Given the description of an element on the screen output the (x, y) to click on. 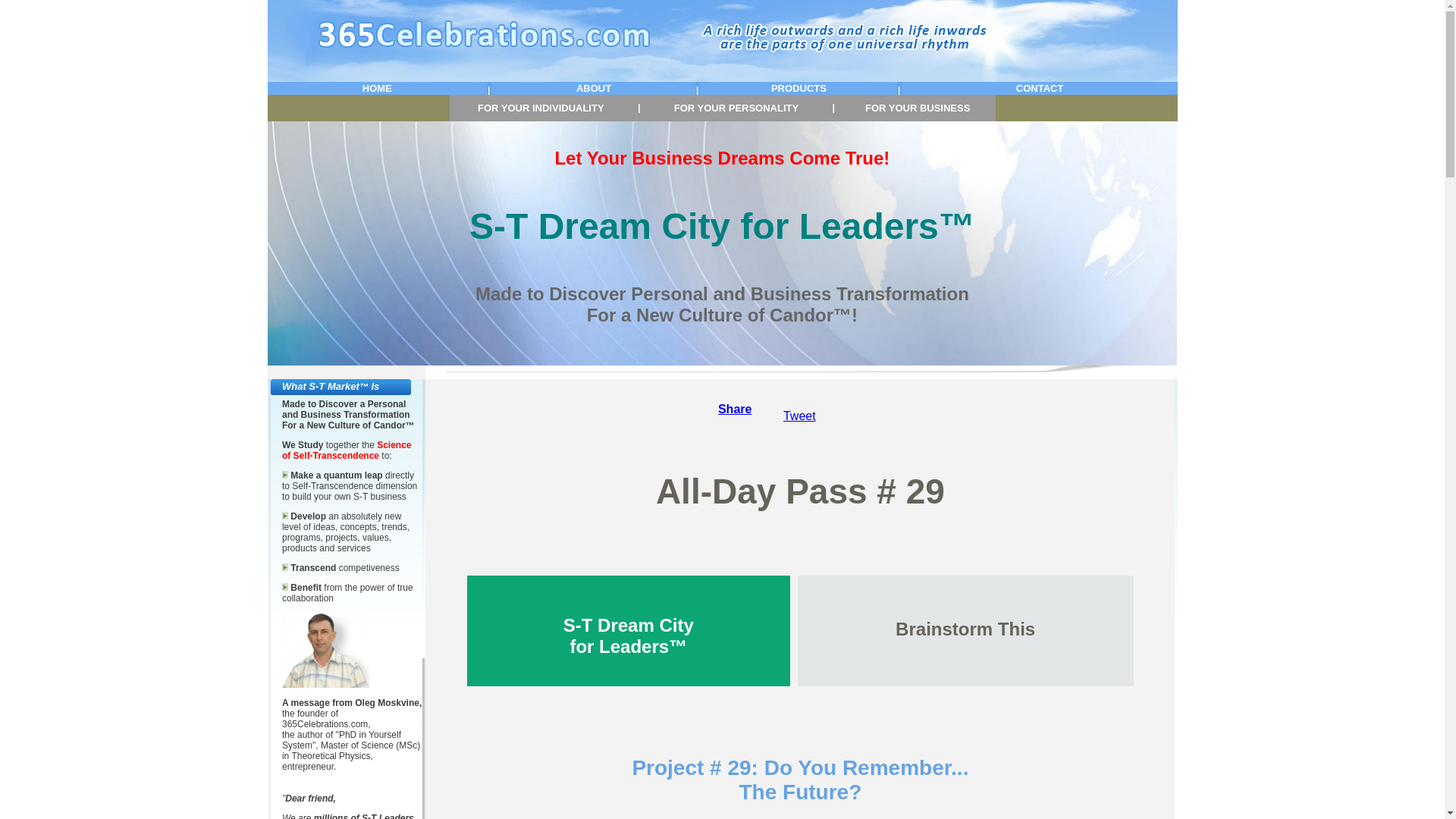
Tweet Element type: text (799, 415)
HOME Element type: text (377, 88)
FOR YOUR PERSONALITY Element type: text (736, 107)
CONTACT Element type: text (1039, 88)
FOR YOUR BUSINESS Element type: text (917, 107)
FOR YOUR INDIVIDUALITY Element type: text (540, 107)
ABOUT Element type: text (593, 88)
Share Element type: text (734, 408)
PRODUCTS Element type: text (798, 88)
